Given the description of an element on the screen output the (x, y) to click on. 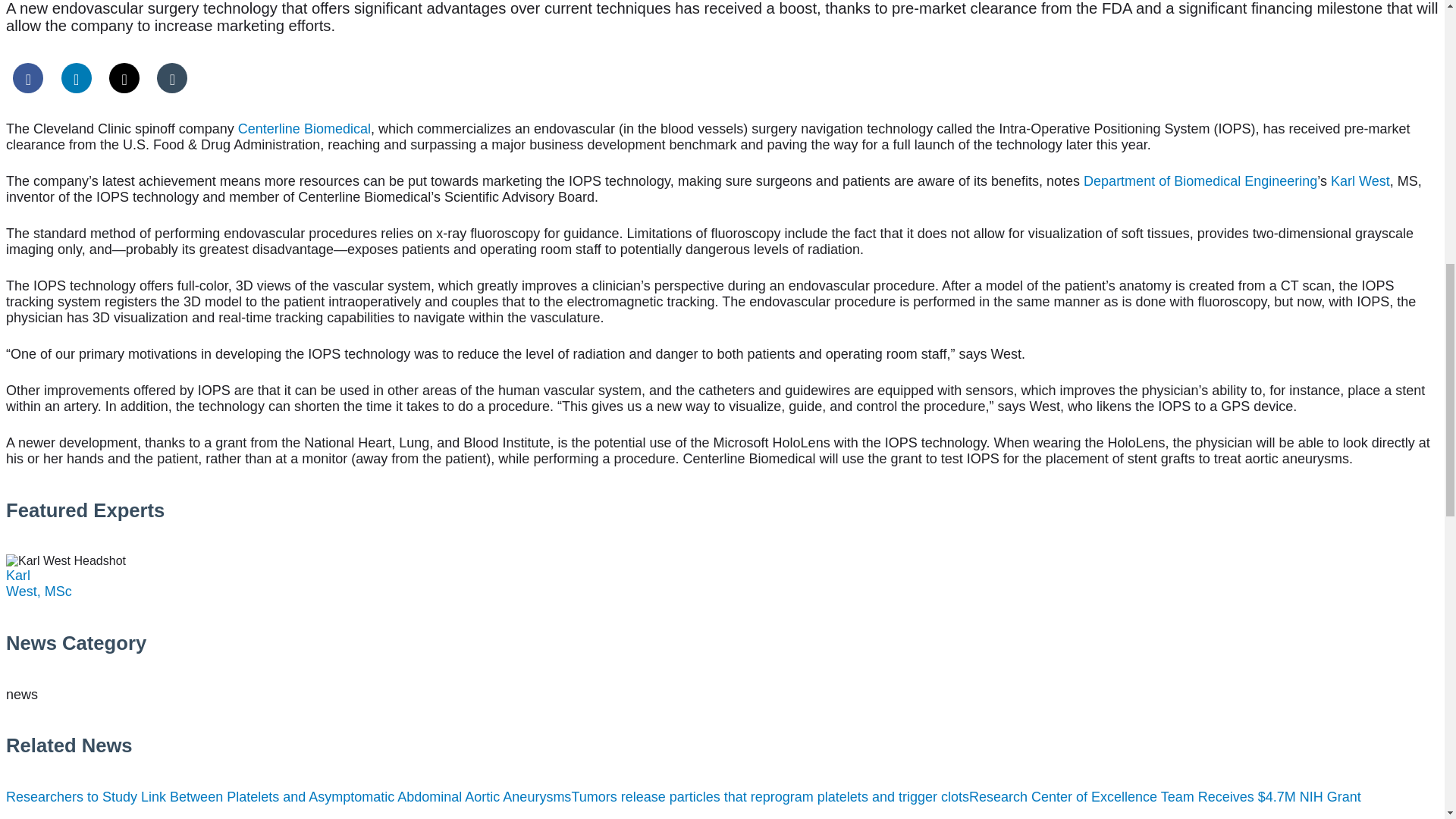
LinkedIn (76, 78)
Twitter (124, 78)
Print (172, 78)
Facebook (28, 78)
